Given the description of an element on the screen output the (x, y) to click on. 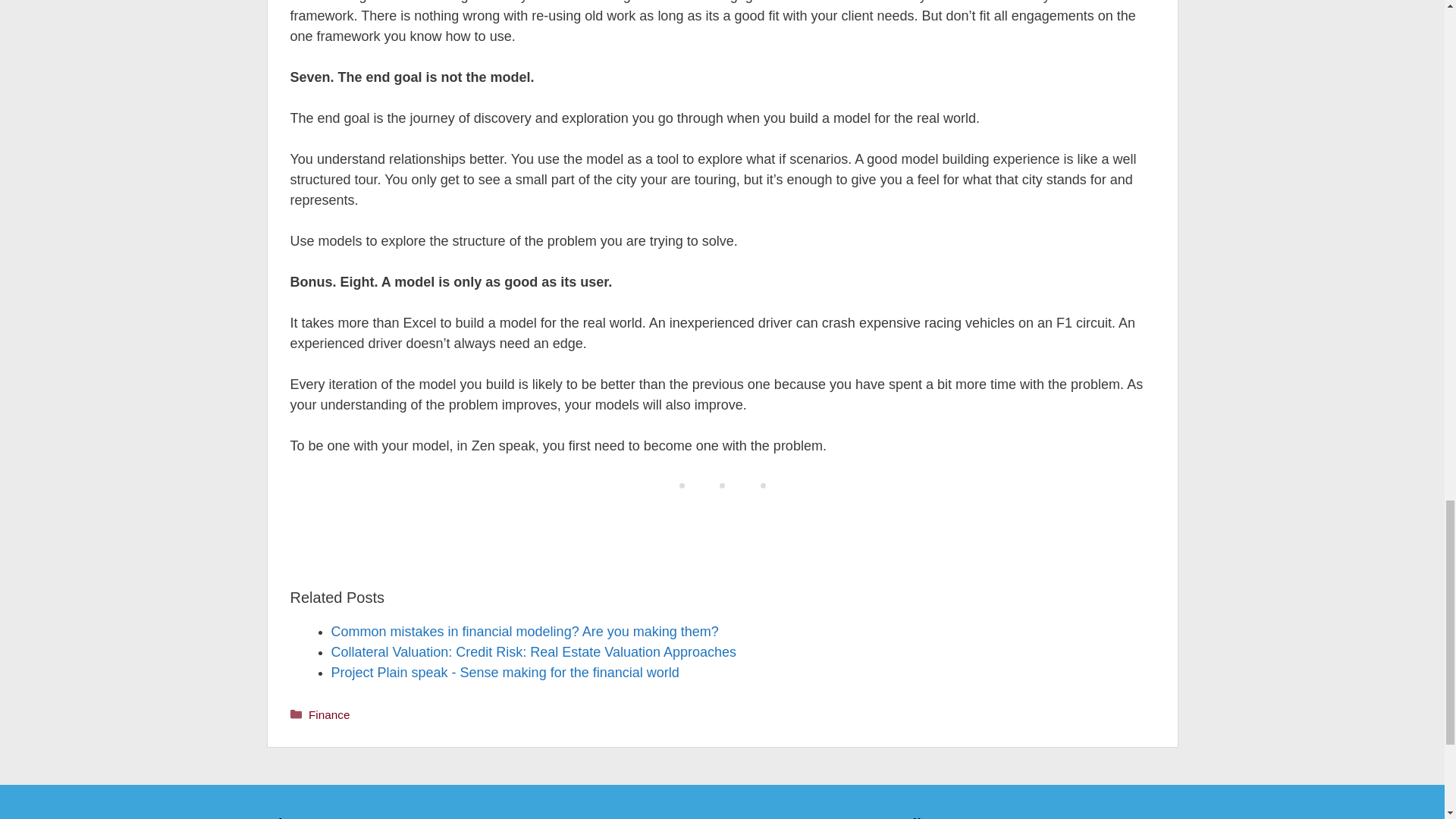
Finance (328, 714)
Project Plain speak - Sense making for the financial world (504, 672)
Common mistakes in financial modeling? Are you making them? (523, 631)
